Given the description of an element on the screen output the (x, y) to click on. 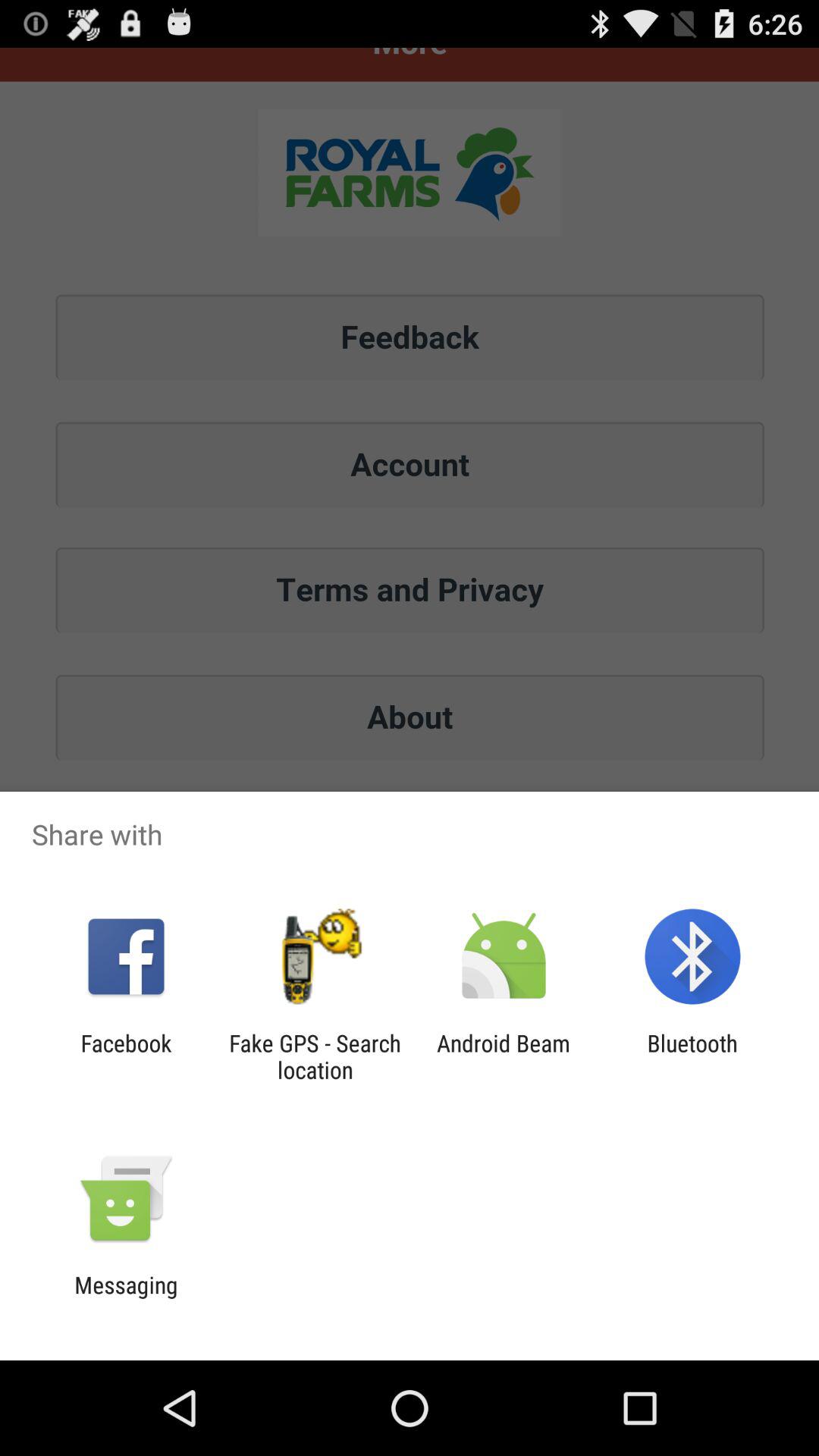
launch the item next to bluetooth item (503, 1056)
